Given the description of an element on the screen output the (x, y) to click on. 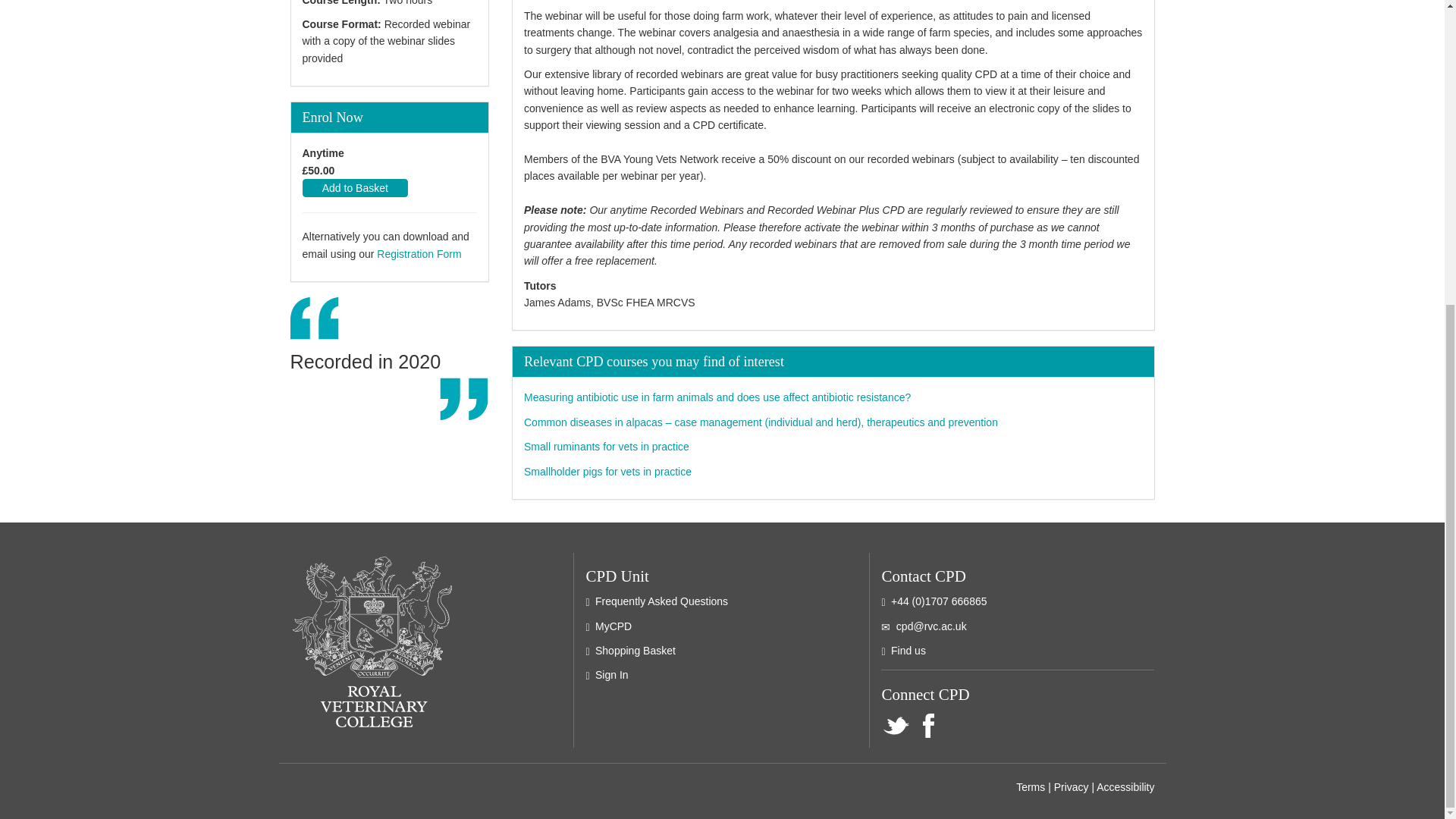
Privacy (1071, 787)
Small ruminants for vets in practice (606, 446)
Registration Form (419, 254)
Smallholder pigs for vets in practice (607, 471)
Find us (908, 650)
Terms (1030, 787)
Shopping Basket (635, 650)
Frequently Asked Questions (661, 601)
MyCPD (613, 625)
Add to Basket (354, 188)
Accessibility (1125, 787)
Sign In (611, 674)
